Given the description of an element on the screen output the (x, y) to click on. 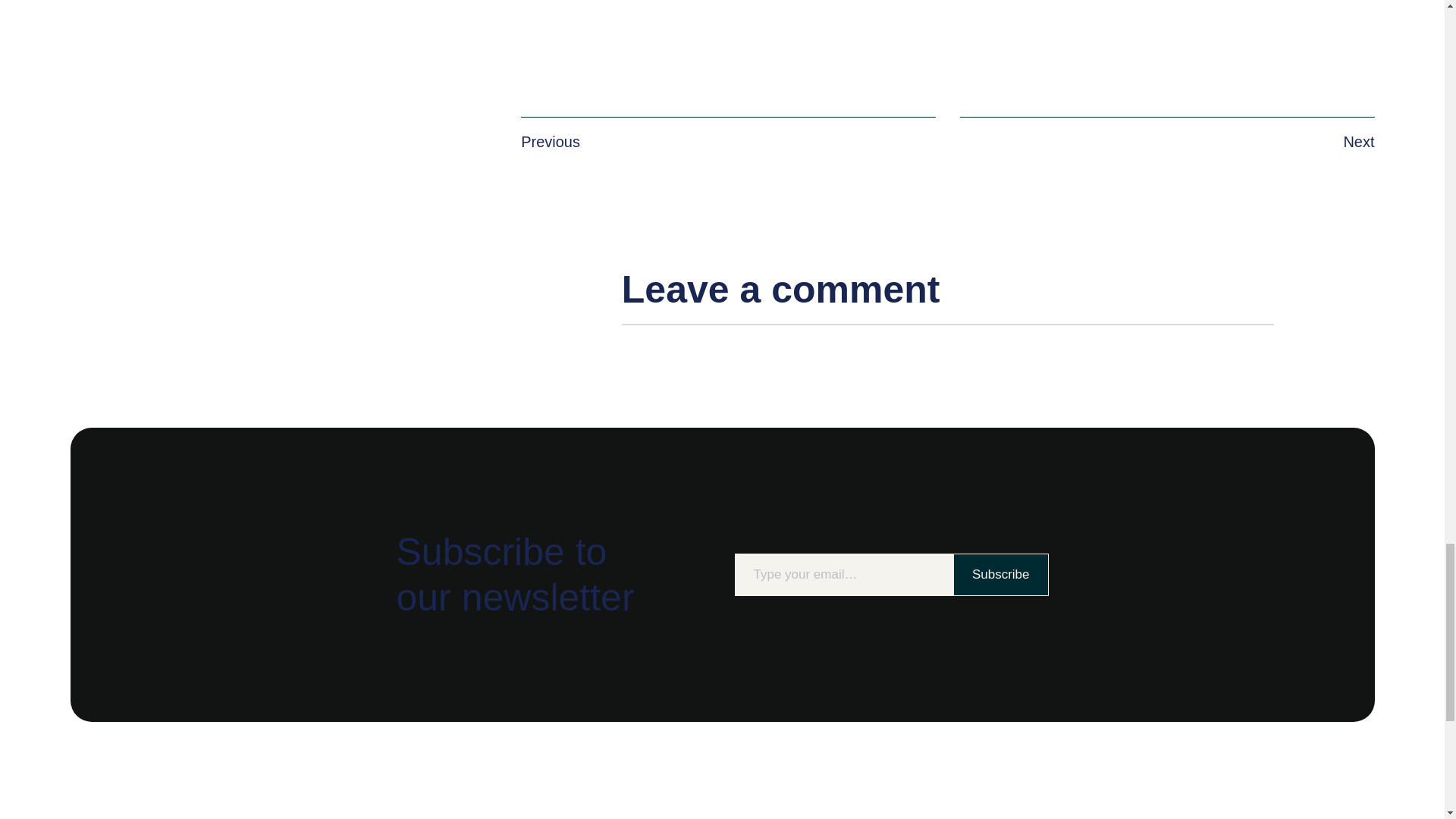
Please fill in this field. (842, 574)
Subscribe (1000, 574)
Next (1358, 141)
Previous (550, 141)
